Given the description of an element on the screen output the (x, y) to click on. 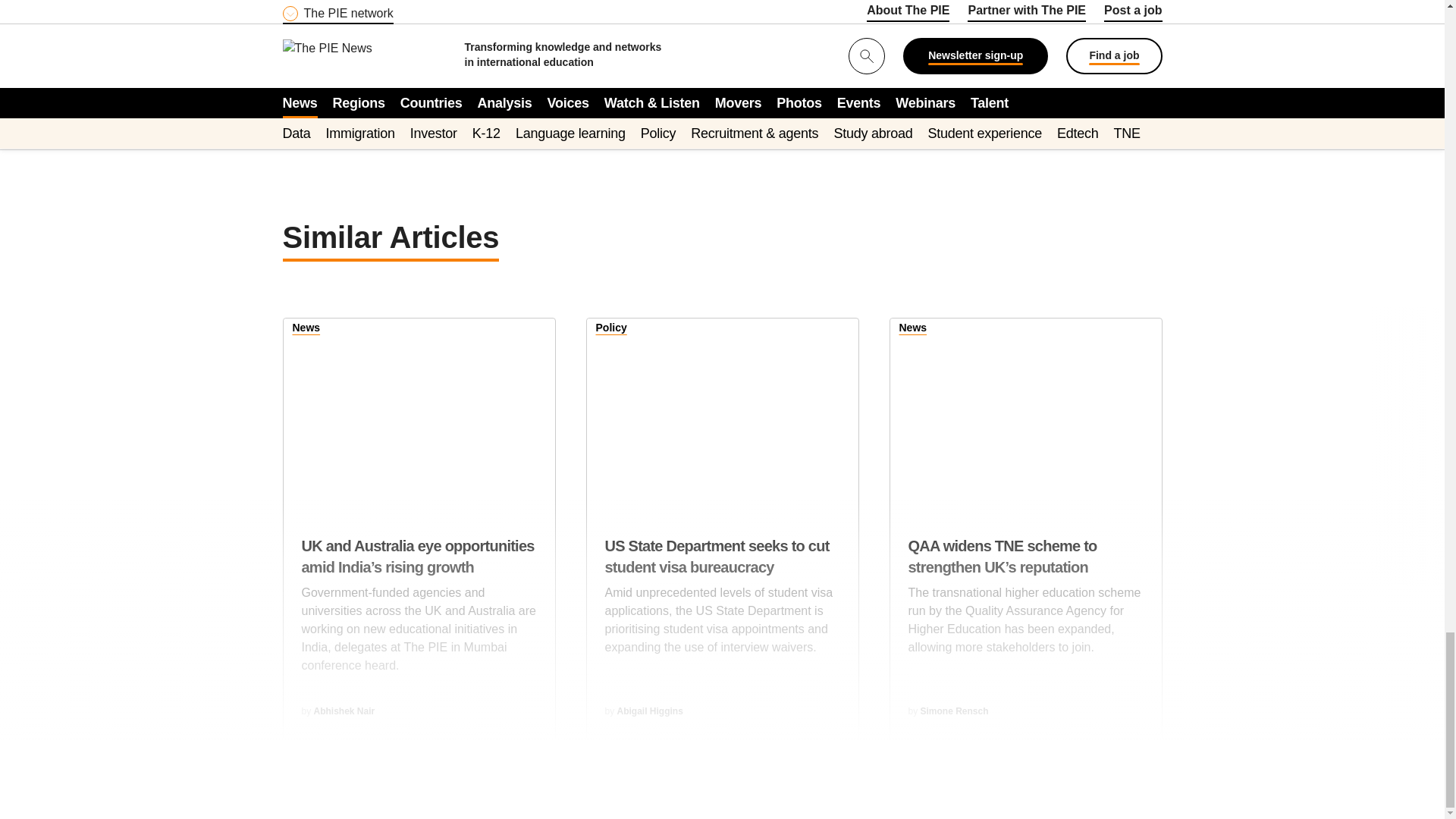
US State Department seeks to cut student visa bureaucracy (722, 412)
US State Department seeks to cut student visa bureaucracy (722, 604)
View all News articles (912, 329)
View all Policy articles (611, 329)
View all News articles (306, 329)
